Given the description of an element on the screen output the (x, y) to click on. 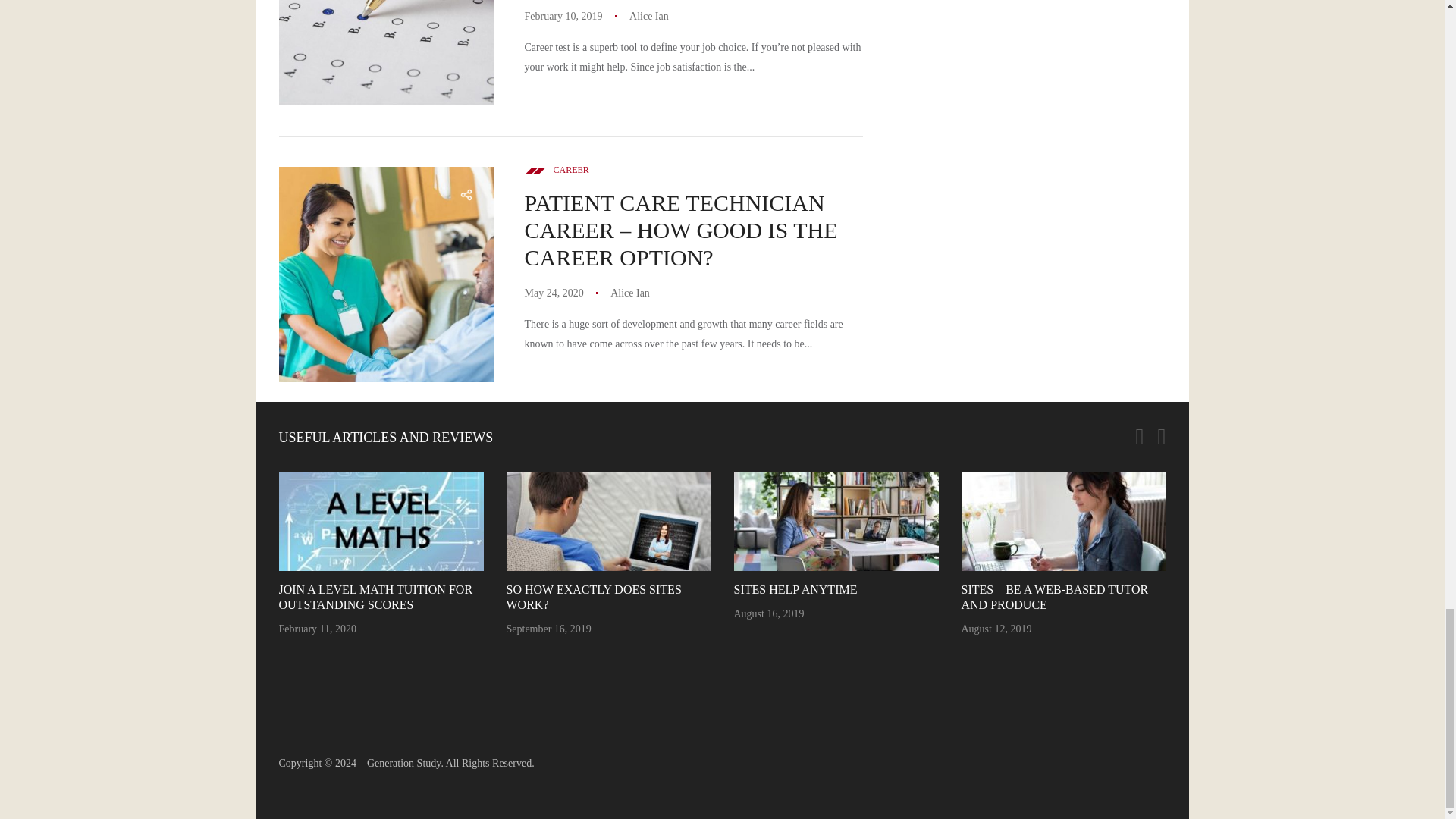
Sites Help anytime (836, 521)
So How Exactly Does Sites Work? (608, 521)
Join A Level Math Tuition for outstanding scores (381, 521)
Permanent Link to So How Exactly Does Sites Work? (593, 596)
